Given the description of an element on the screen output the (x, y) to click on. 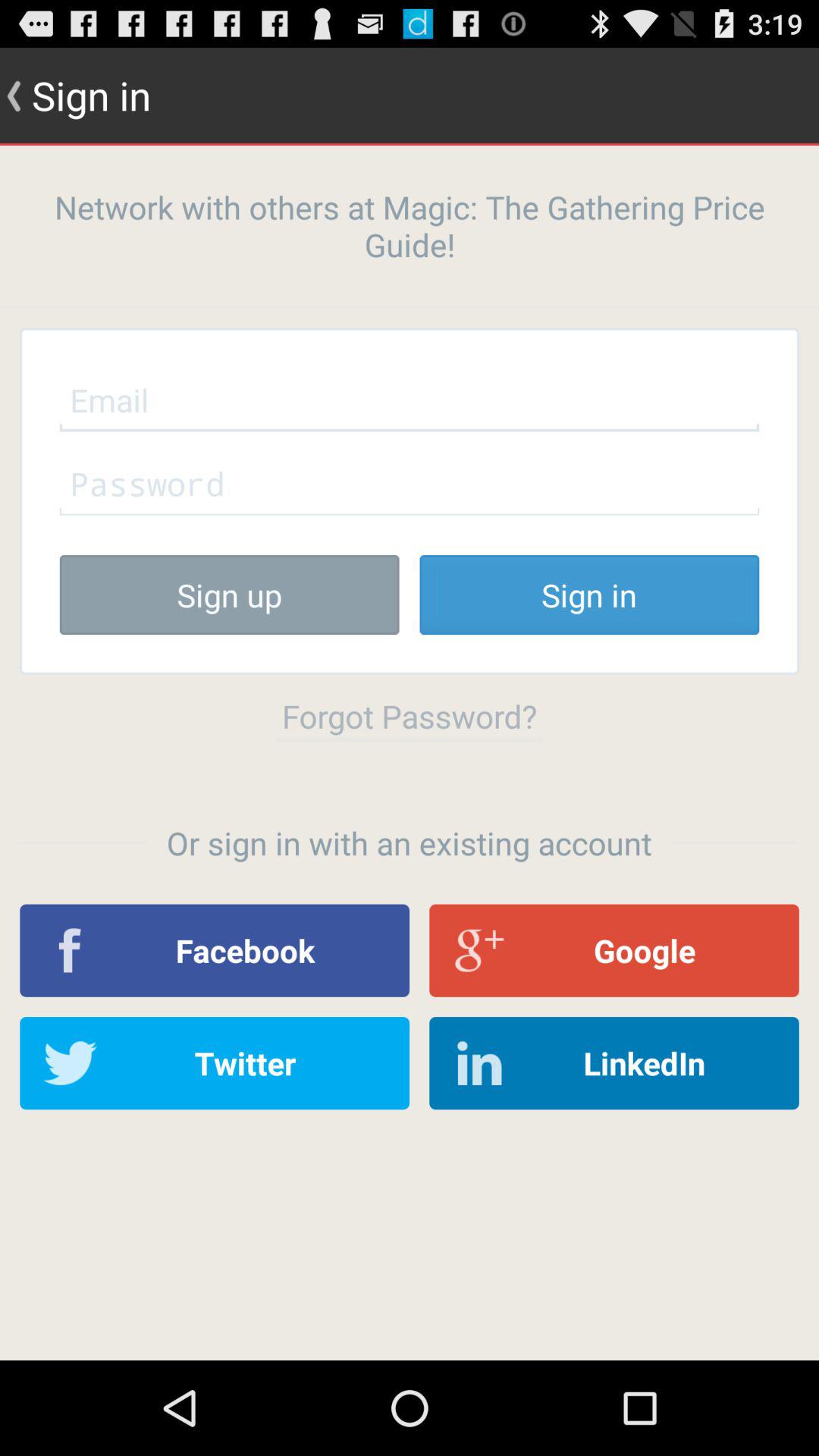
turn on item below the sign up icon (409, 715)
